Given the description of an element on the screen output the (x, y) to click on. 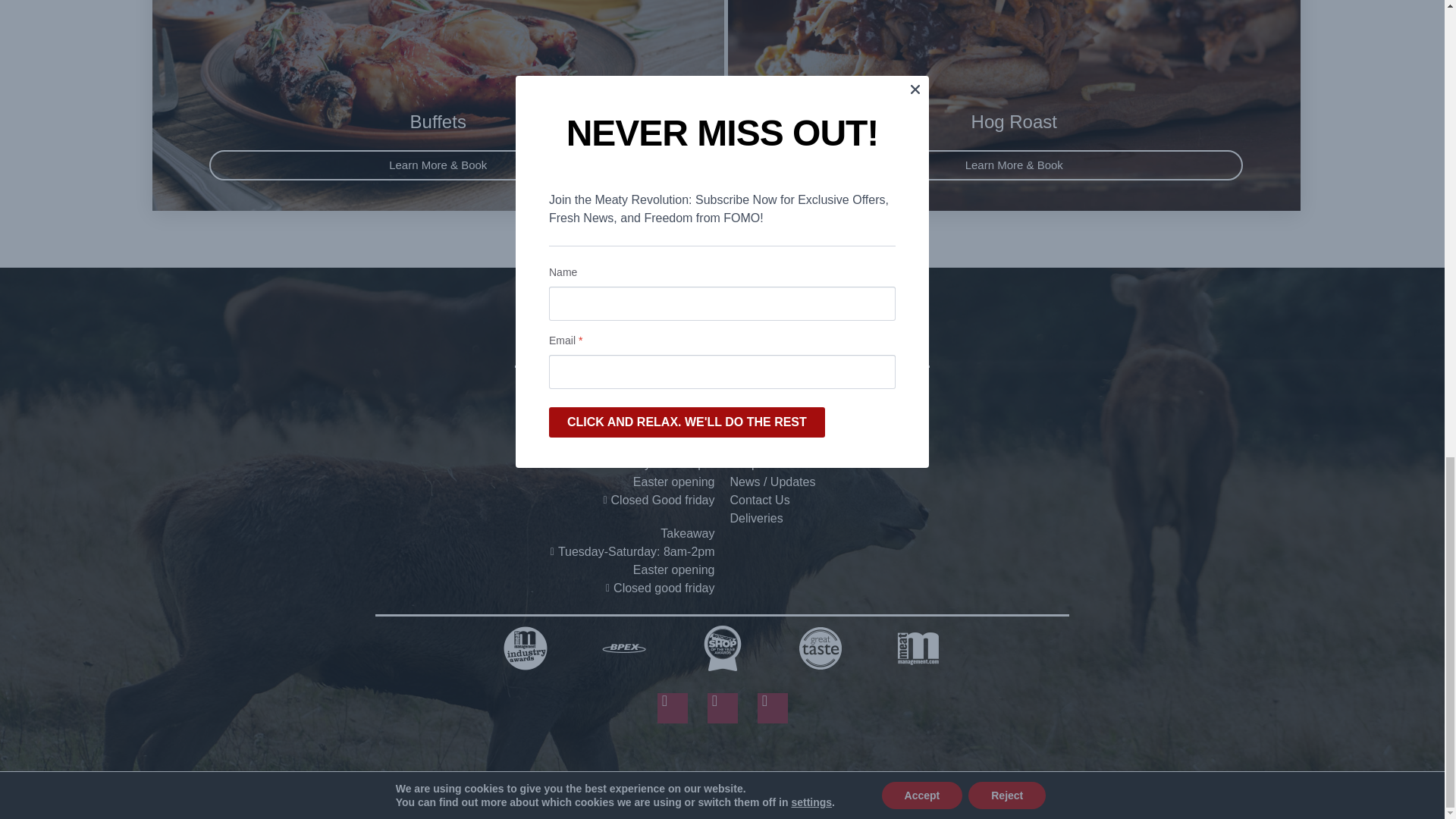
Phil Shaw Digital Media (902, 776)
